Given the description of an element on the screen output the (x, y) to click on. 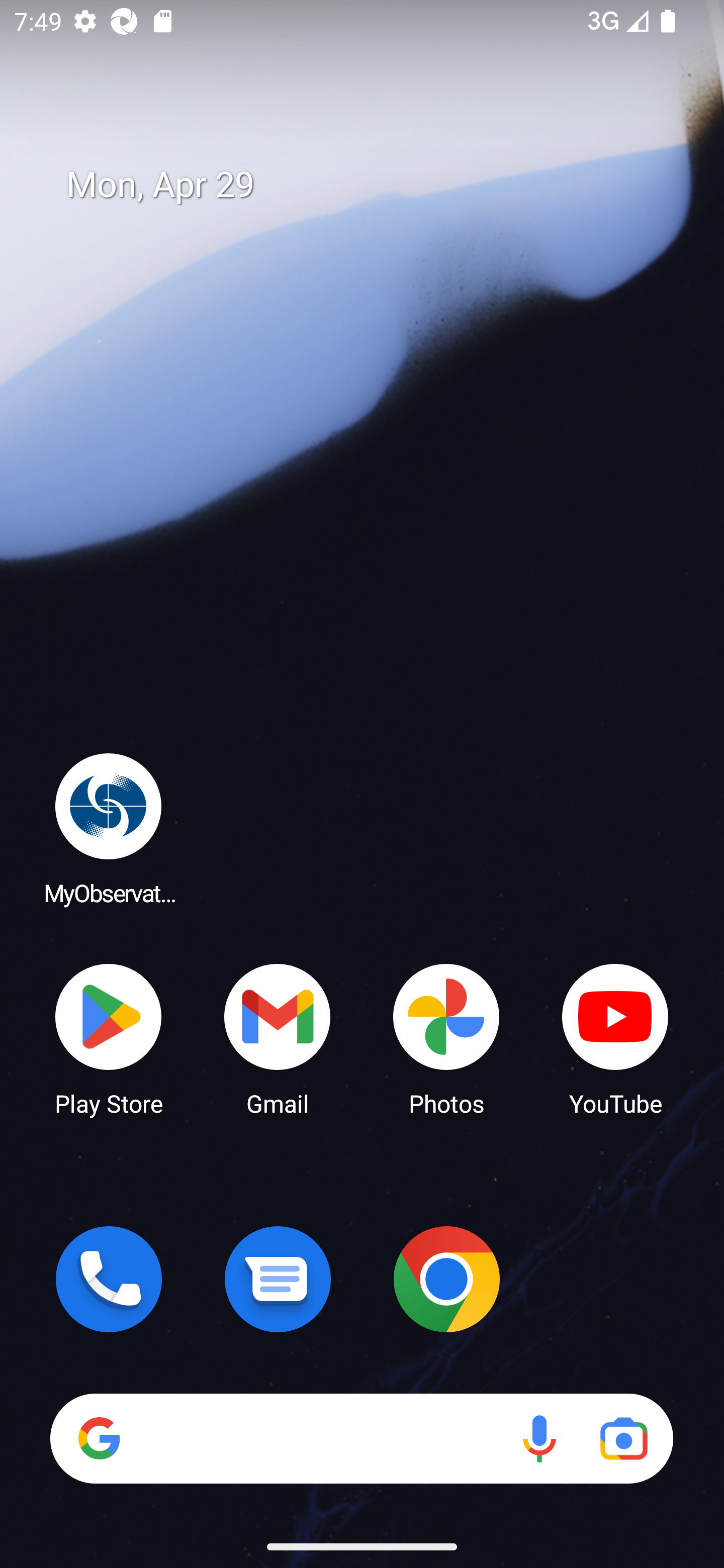
Mon, Apr 29 (375, 184)
MyObservatory (108, 828)
Play Store (108, 1038)
Gmail (277, 1038)
Photos (445, 1038)
YouTube (615, 1038)
Phone (108, 1279)
Messages (277, 1279)
Chrome (446, 1279)
Voice search (539, 1438)
Google Lens (623, 1438)
